Given the description of an element on the screen output the (x, y) to click on. 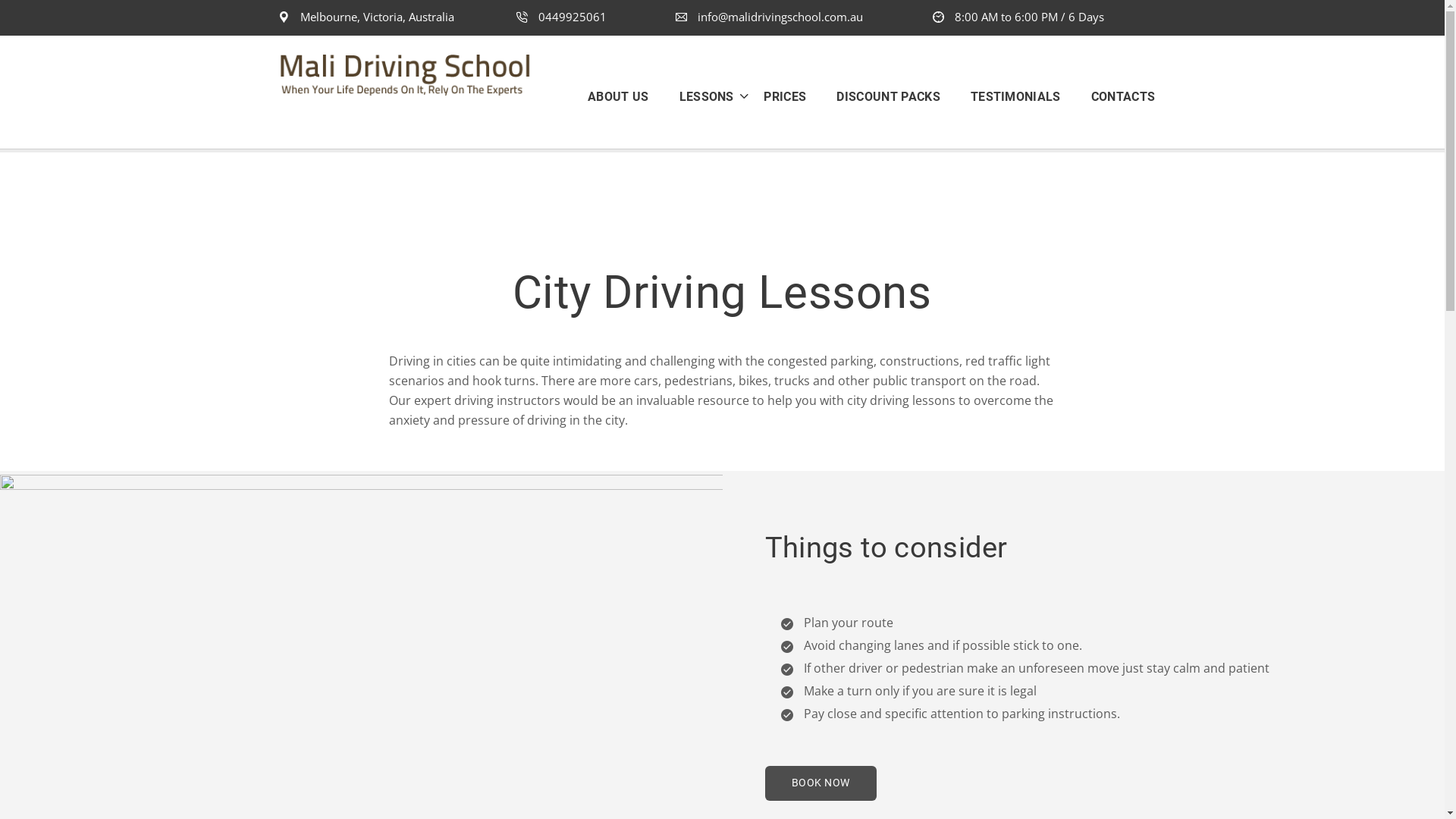
ABOUT US Element type: text (625, 96)
CONTACTS Element type: text (1115, 96)
info@malidrivingschool.com.au Element type: text (768, 16)
0449925061 Element type: text (560, 16)
BOOK NOW Element type: text (819, 782)
LESSONS Element type: text (700, 96)
Melbourne, Victoria, Australia Element type: text (366, 16)
TESTIMONIALS Element type: text (1015, 96)
PRICES Element type: text (784, 96)
DISCOUNT PACKS Element type: text (887, 96)
